Given the description of an element on the screen output the (x, y) to click on. 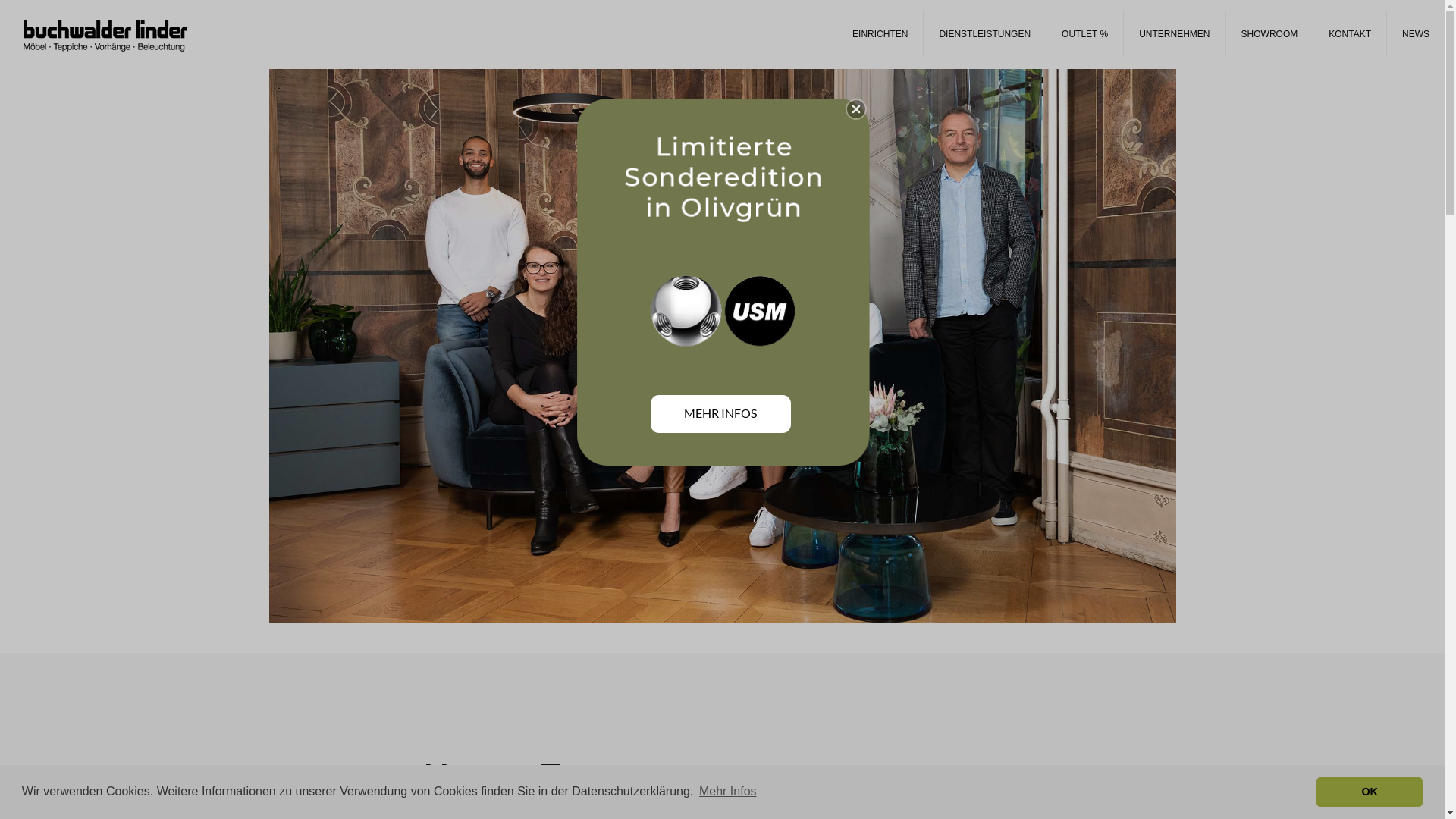
NEWS Element type: text (1415, 34)
SHOWROOM Element type: text (1270, 34)
OUTLET % Element type: text (1084, 34)
EINRICHTEN Element type: text (880, 34)
Mehr Infos Element type: text (727, 791)
UNTERNEHMEN Element type: text (1174, 34)
MEHR INFOS Element type: text (720, 414)
OK Element type: text (1369, 791)
Close Element type: hover (856, 109)
DIENSTLEISTUNGEN Element type: text (984, 34)
KONTAKT Element type: text (1349, 34)
